Given the description of an element on the screen output the (x, y) to click on. 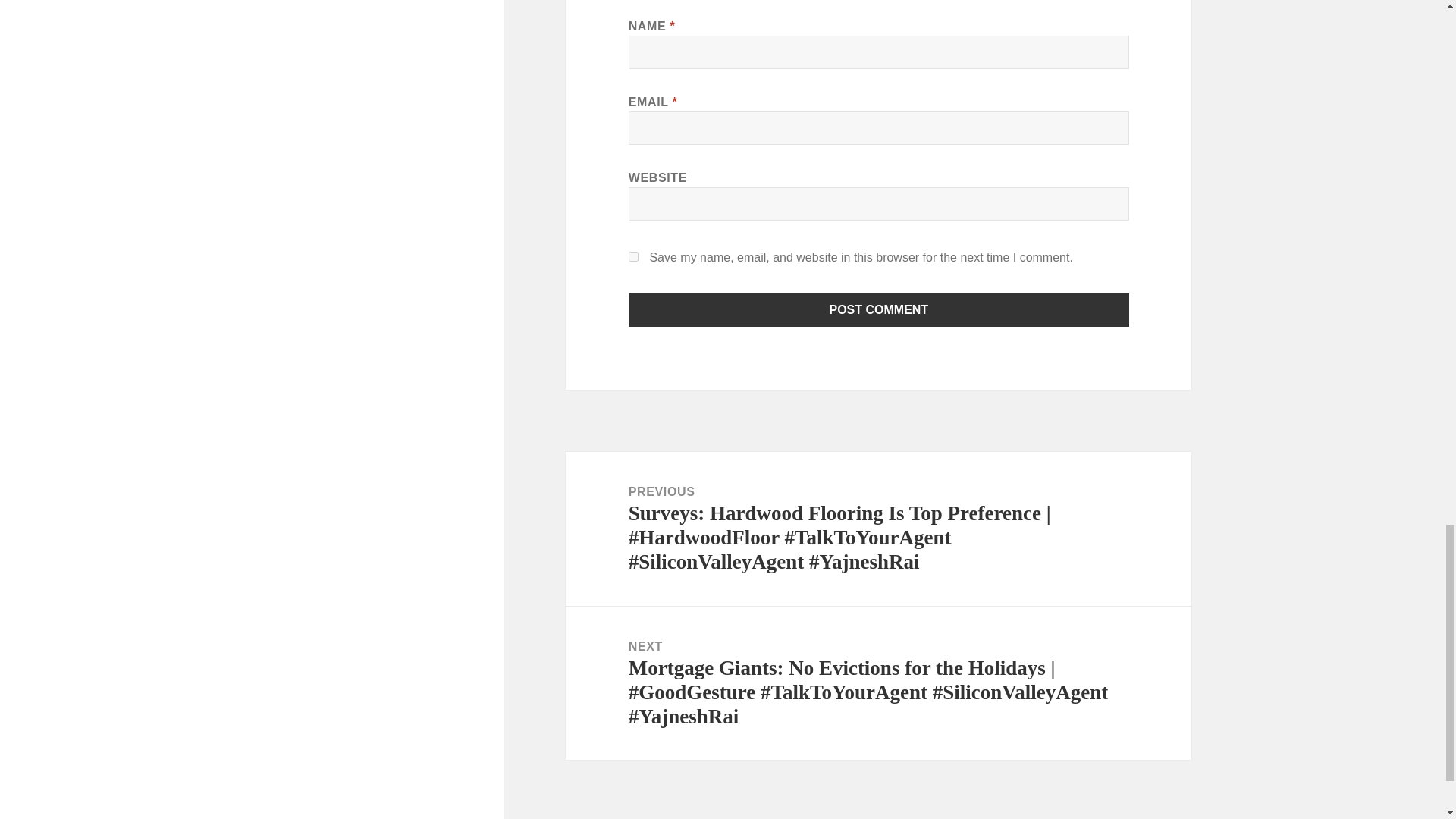
Post Comment (878, 309)
yes (633, 256)
Post Comment (878, 309)
